Given the description of an element on the screen output the (x, y) to click on. 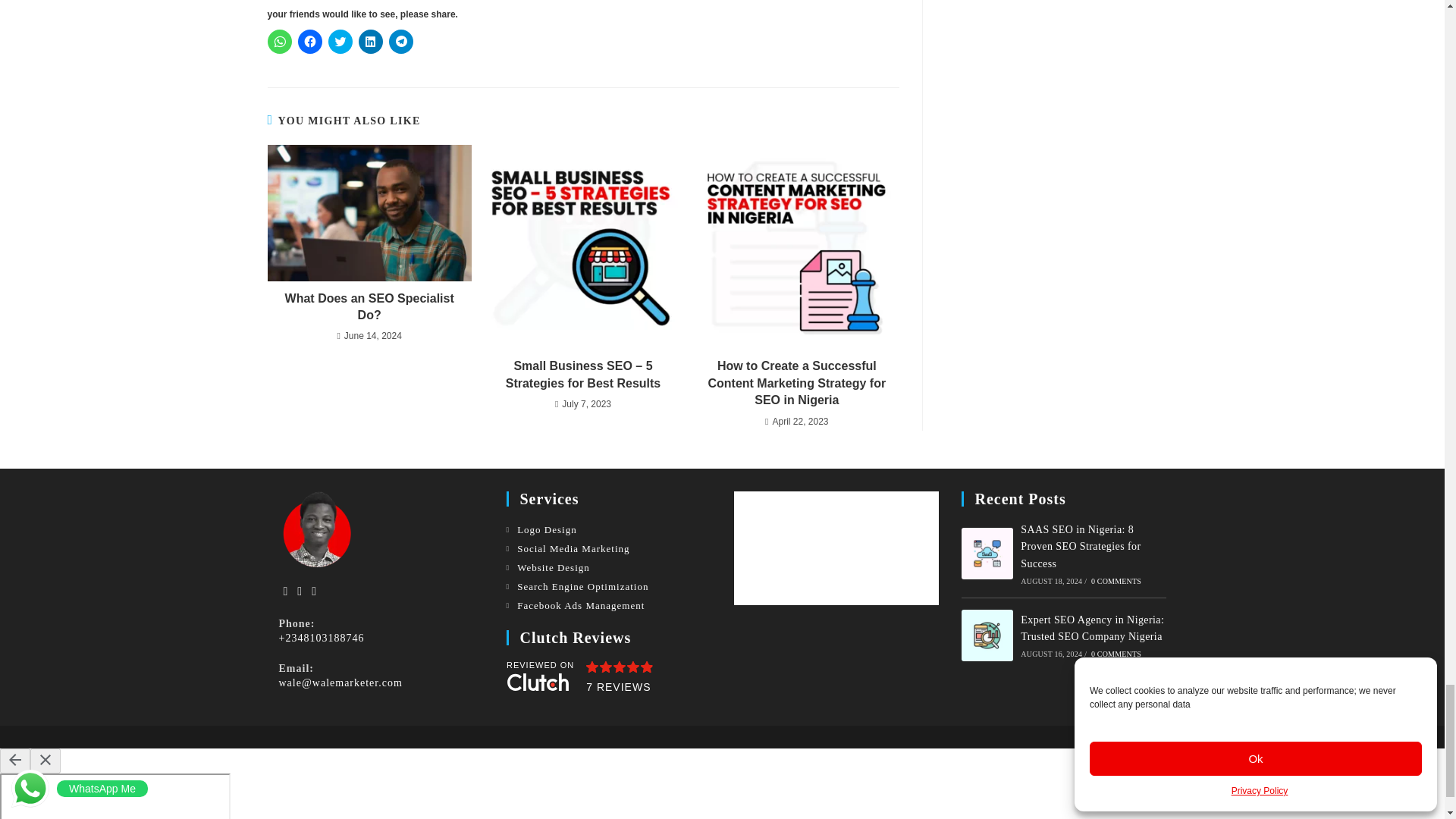
Click to share on Facebook (309, 41)
Click to share on Twitter (339, 41)
Click to share on Telegram (400, 41)
Click to share on LinkedIn (369, 41)
Click to share on WhatsApp (278, 41)
